Given the description of an element on the screen output the (x, y) to click on. 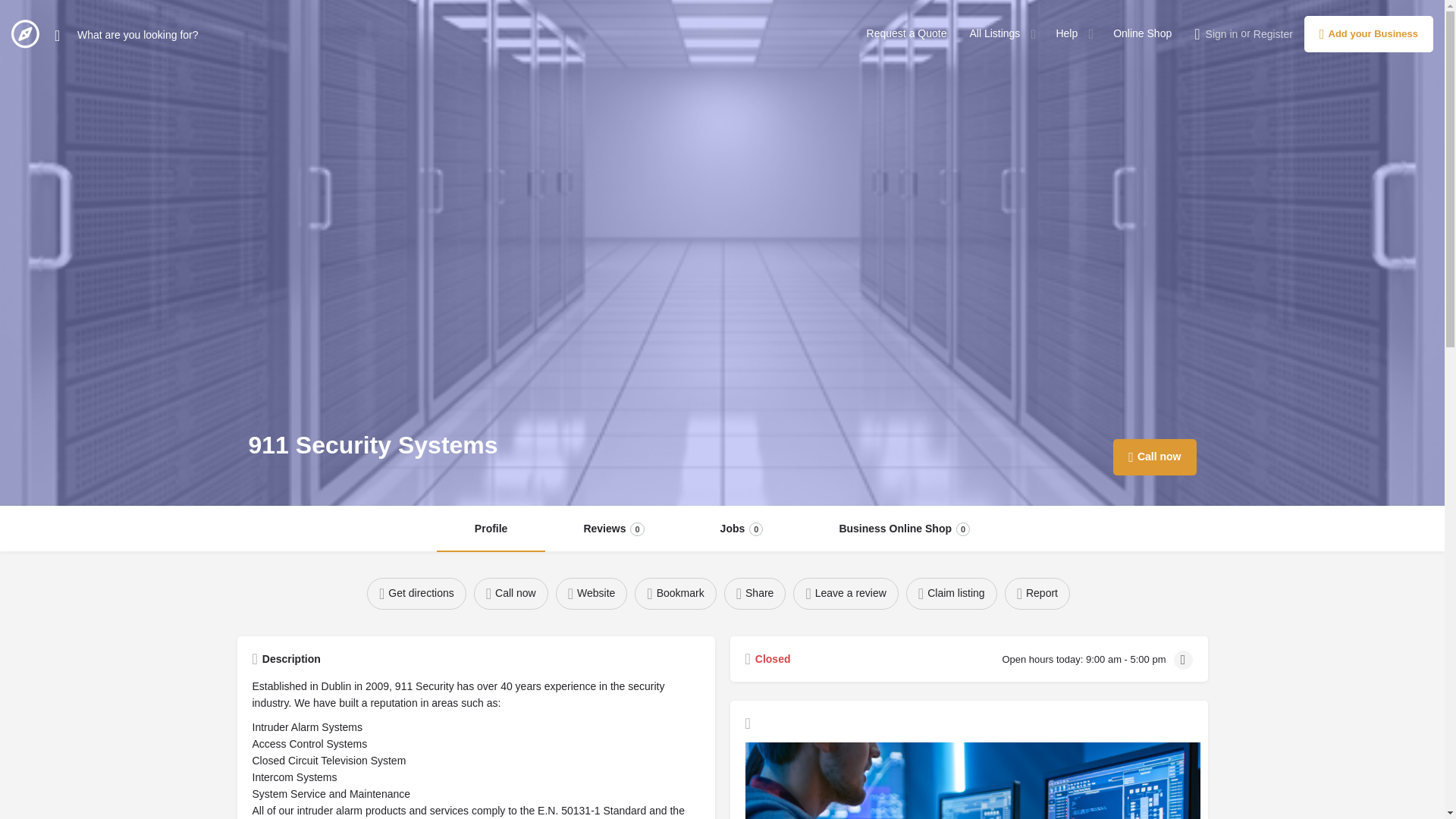
Help (903, 529)
Call now (1066, 32)
Bookmark (511, 593)
All Listings (675, 593)
Add your Business (994, 32)
Request a Quote (1368, 33)
Share (906, 32)
Website (754, 593)
Online Shop (591, 593)
Call now (1142, 32)
Profile (1154, 456)
Sign in (742, 529)
